Given the description of an element on the screen output the (x, y) to click on. 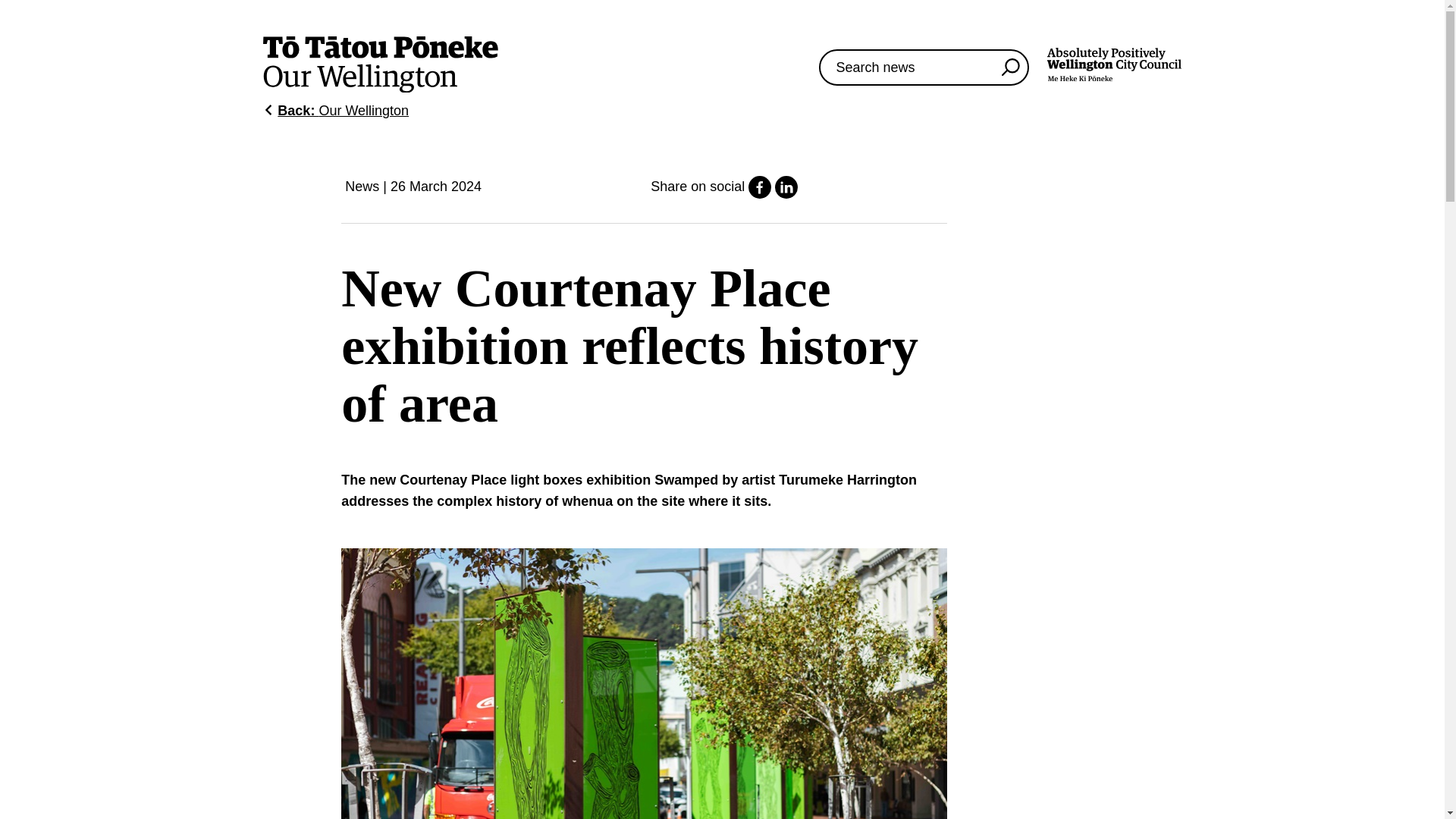
Share this article on Linkedin (785, 193)
Wellington City Council (1113, 64)
Search news (1009, 67)
Search online information (923, 67)
Search news (1009, 67)
Share this article on Facebook (759, 193)
Back: Our Wellington (336, 110)
Search news (1113, 66)
